Given the description of an element on the screen output the (x, y) to click on. 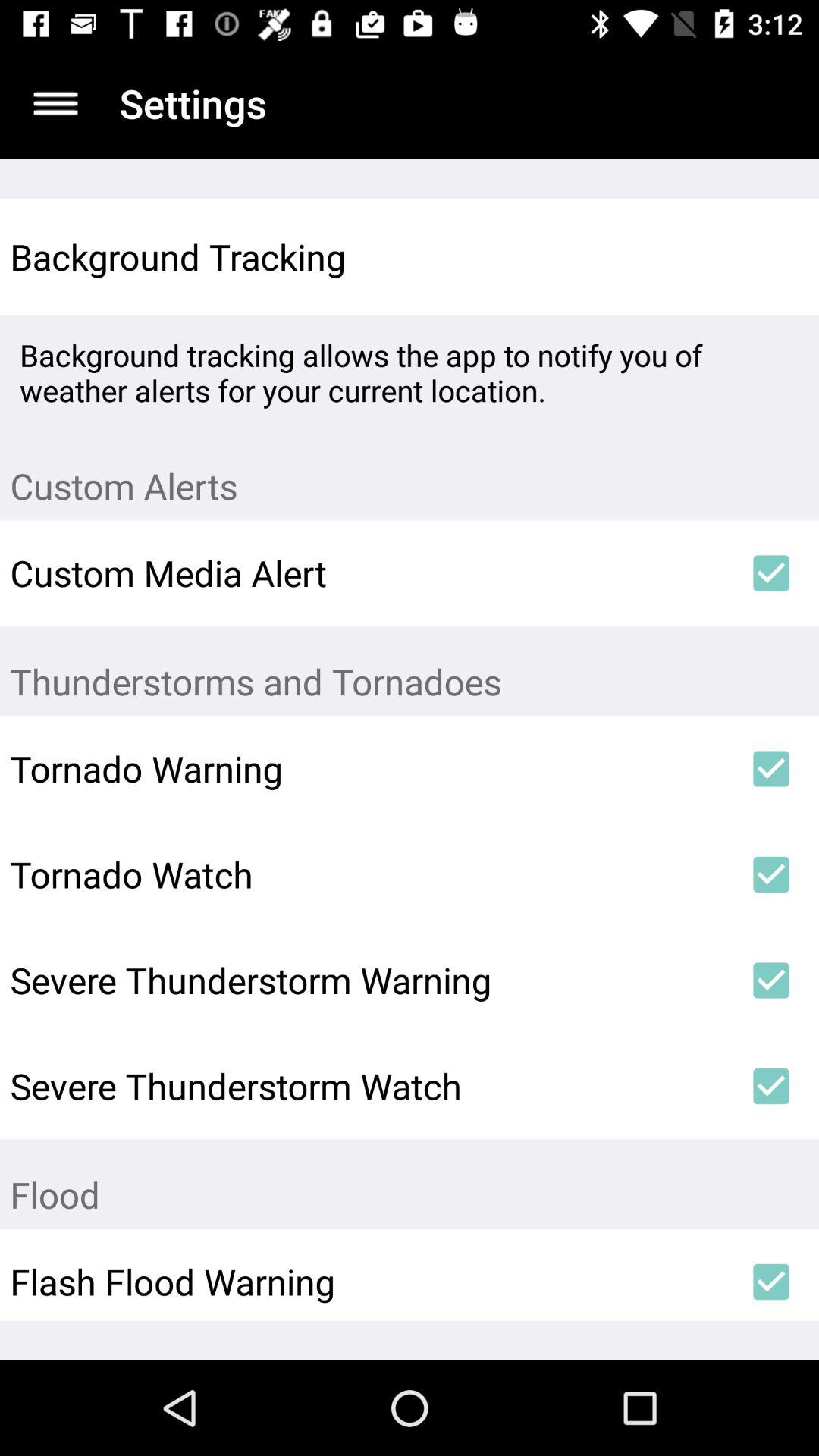
choose the icon next to the custom media alert item (771, 573)
